Given the description of an element on the screen output the (x, y) to click on. 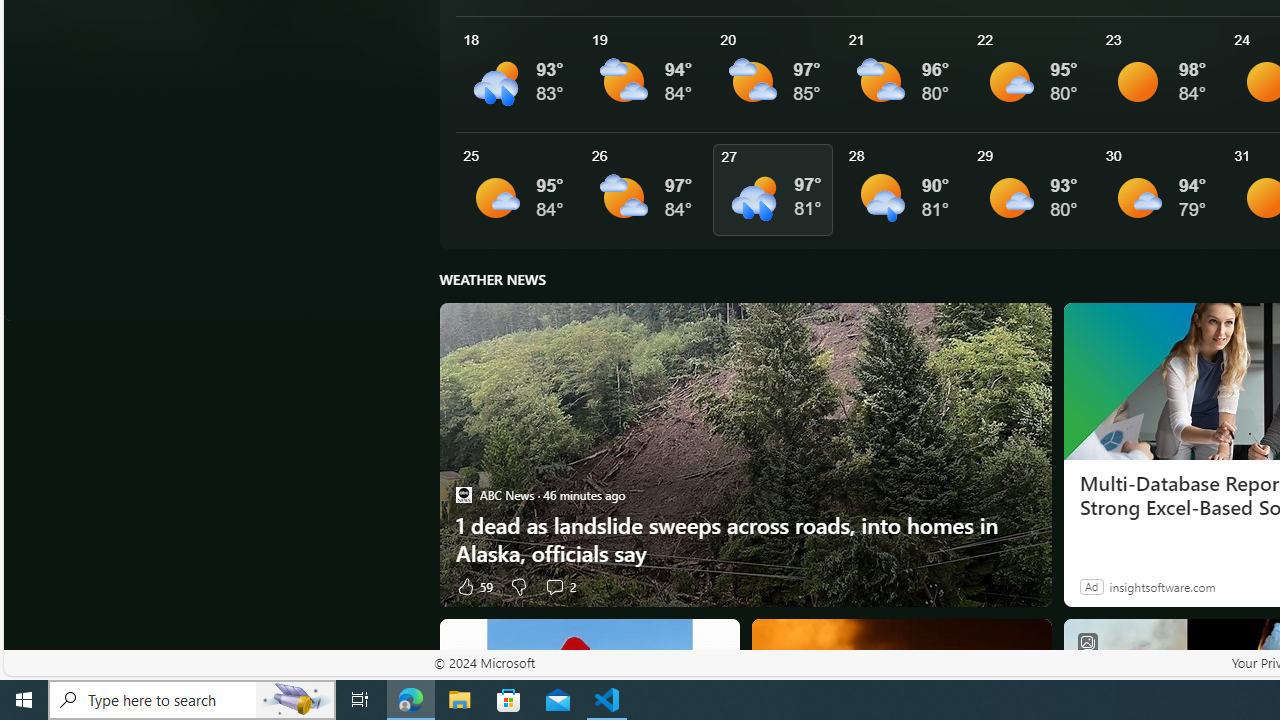
View comments 2 Comment (559, 586)
59 Like (473, 586)
ABC News (463, 494)
